Given the description of an element on the screen output the (x, y) to click on. 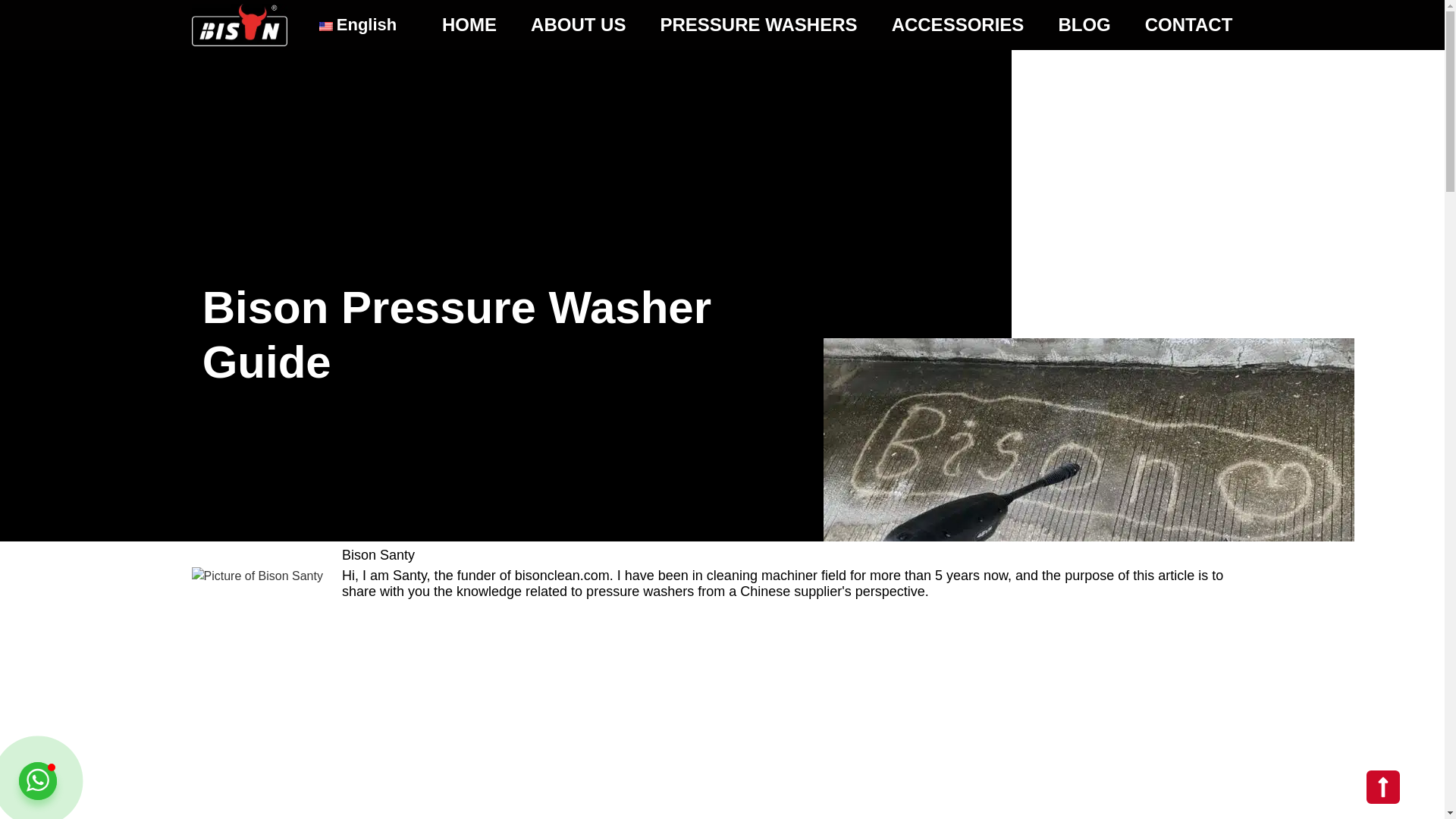
English (355, 24)
HOME (469, 24)
English (325, 26)
ABOUT US (578, 24)
ACCESSORIES (958, 24)
PRESSURE WASHERS (759, 24)
Post 1 (1089, 468)
Post 2 (255, 575)
